Given the description of an element on the screen output the (x, y) to click on. 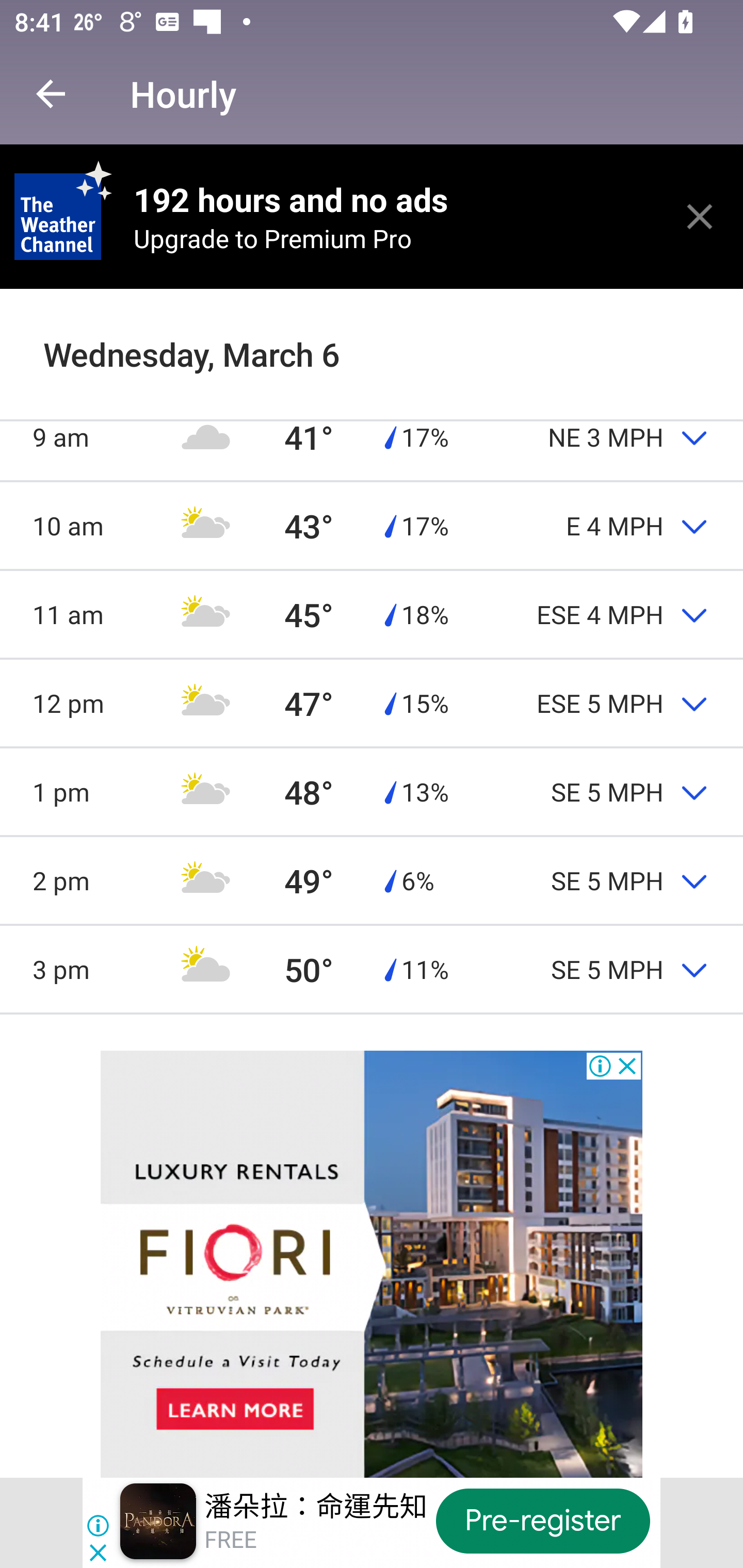
Navigate up (50, 93)
close this (699, 216)
8 am 40° 18% NNE 4 MPH (371, 348)
9 am 41° 17% NE 3 MPH (371, 436)
10 am 43° 17% E 4 MPH (371, 525)
11 am 45° 18% ESE 4 MPH (371, 613)
12 pm 47° 15% ESE 5 MPH (371, 703)
1 pm 48° 13% SE 5 MPH (371, 791)
2 pm 49° 6% SE 5 MPH (371, 880)
3 pm 50° 11% SE 5 MPH (371, 968)
潘朵拉：命運先知 (316, 1506)
Pre-register (542, 1520)
FREE (230, 1540)
